Given the description of an element on the screen output the (x, y) to click on. 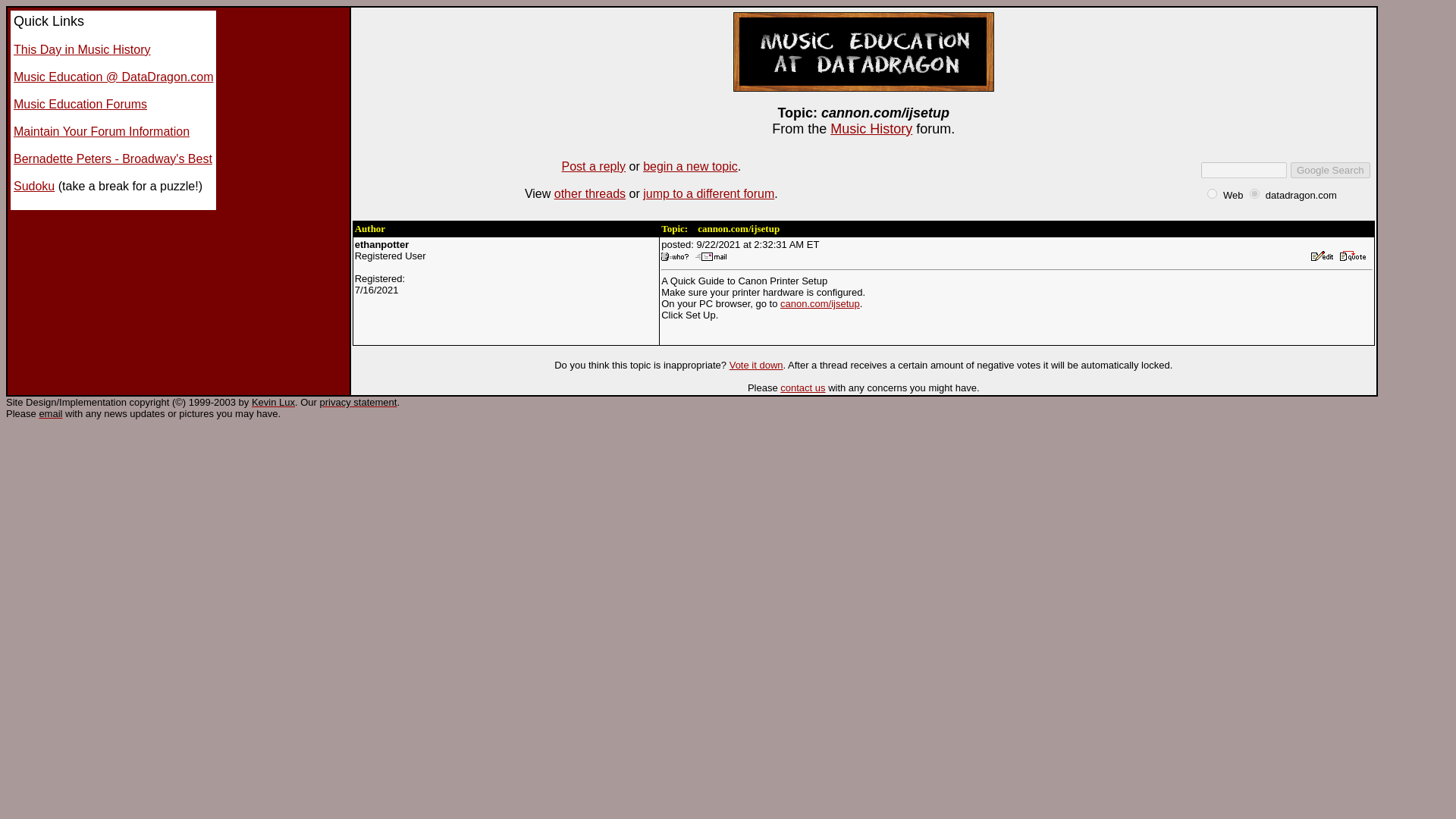
Search datadragon.com (1300, 194)
This Day in Music History (81, 49)
Music Education Forums (80, 103)
Advertisement (727, 455)
jump to a different forum (708, 193)
Kevin Lux (273, 401)
Google Search (1330, 170)
other threads (590, 193)
begin a new topic (690, 165)
Maintain Your Forum Information (101, 131)
Sudoku (34, 185)
contact us (802, 387)
Bernadette Peters - Broadway's Best (112, 158)
Search the Web (1233, 194)
email (50, 413)
